Given the description of an element on the screen output the (x, y) to click on. 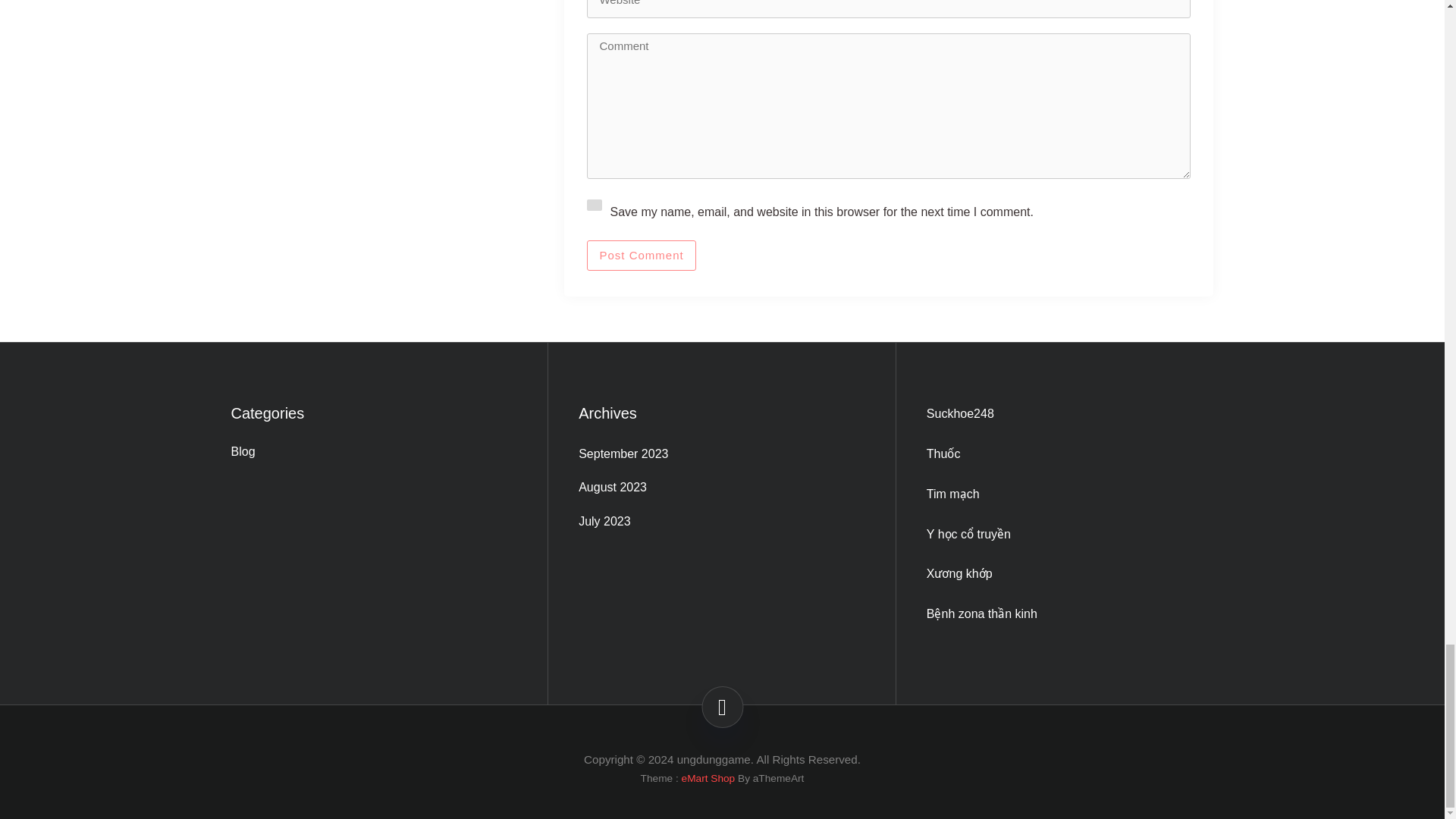
Suckhoe248 (960, 413)
August 2023 (721, 487)
September 2023 (721, 454)
eMart Shop (708, 778)
Post Comment (640, 255)
yes (594, 204)
July 2023 (721, 522)
Blog (373, 452)
